Given the description of an element on the screen output the (x, y) to click on. 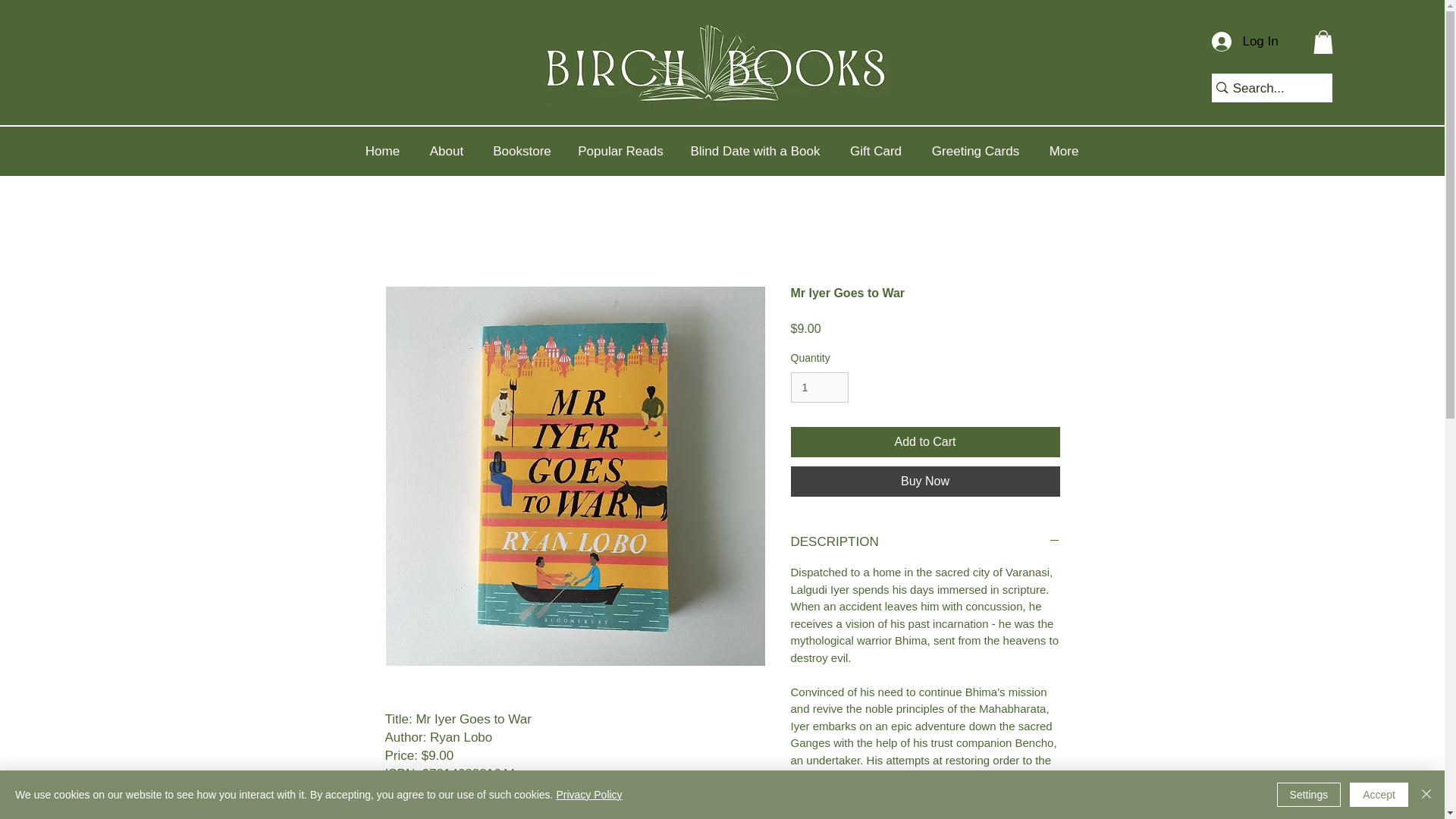
Log In (1237, 41)
About (446, 151)
Popular Reads (621, 151)
Add to Cart (924, 441)
Buy Now (924, 481)
1 (818, 387)
Blind Date with a Book (755, 151)
Home (381, 151)
DESCRIPTION (924, 542)
Gift Card (875, 151)
Greeting Cards (975, 151)
Bookstore (522, 151)
